Given the description of an element on the screen output the (x, y) to click on. 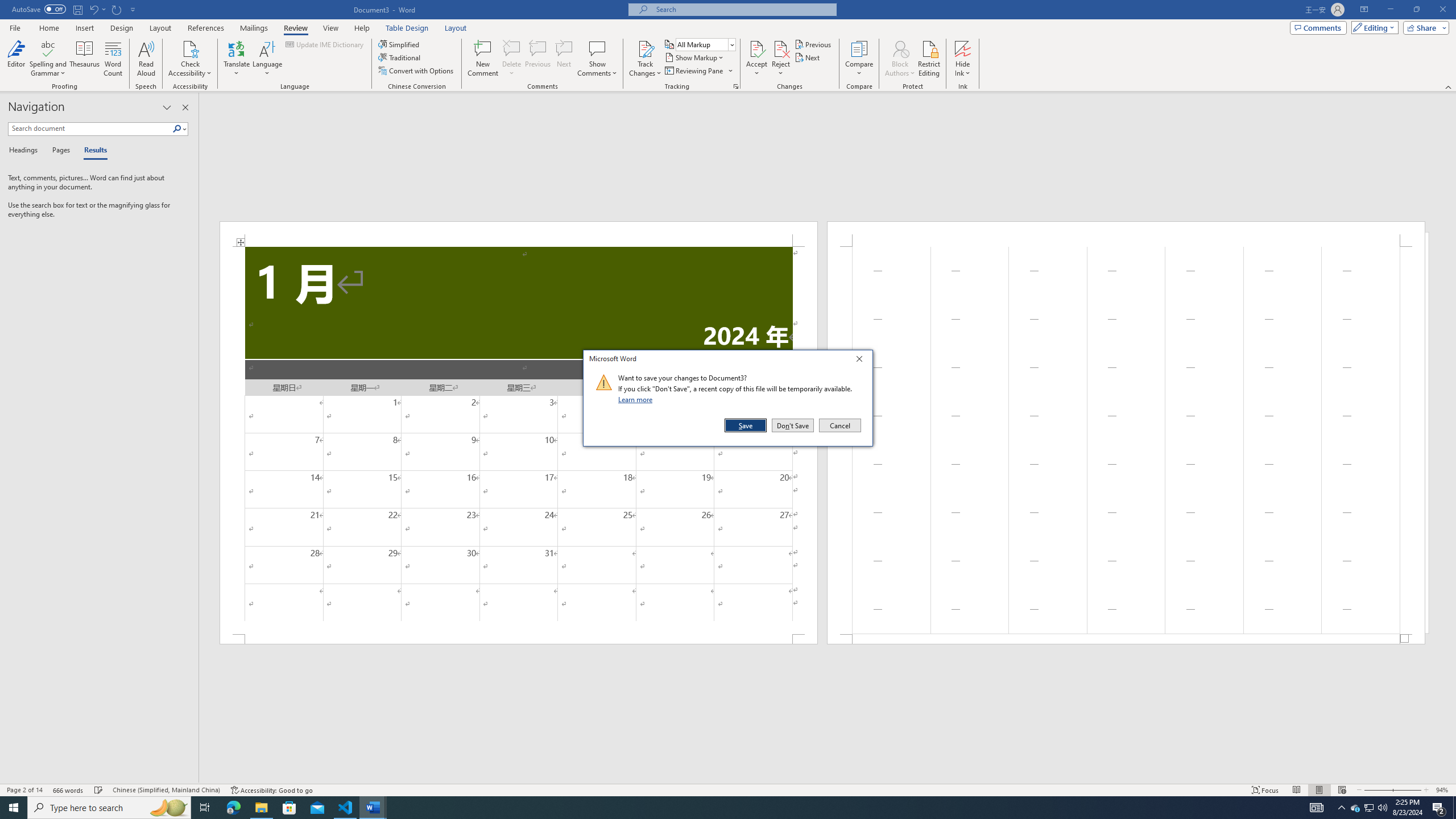
Print Layout (1318, 790)
User Promoted Notification Area (1368, 807)
Comments (1318, 27)
Show desktop (1454, 807)
Delete (511, 48)
Microsoft search (742, 9)
Compare (859, 58)
File Tab (15, 27)
Block Authors (900, 48)
Share (1423, 27)
Check Accessibility (189, 48)
Headings (25, 150)
Zoom Out (1377, 790)
